Given the description of an element on the screen output the (x, y) to click on. 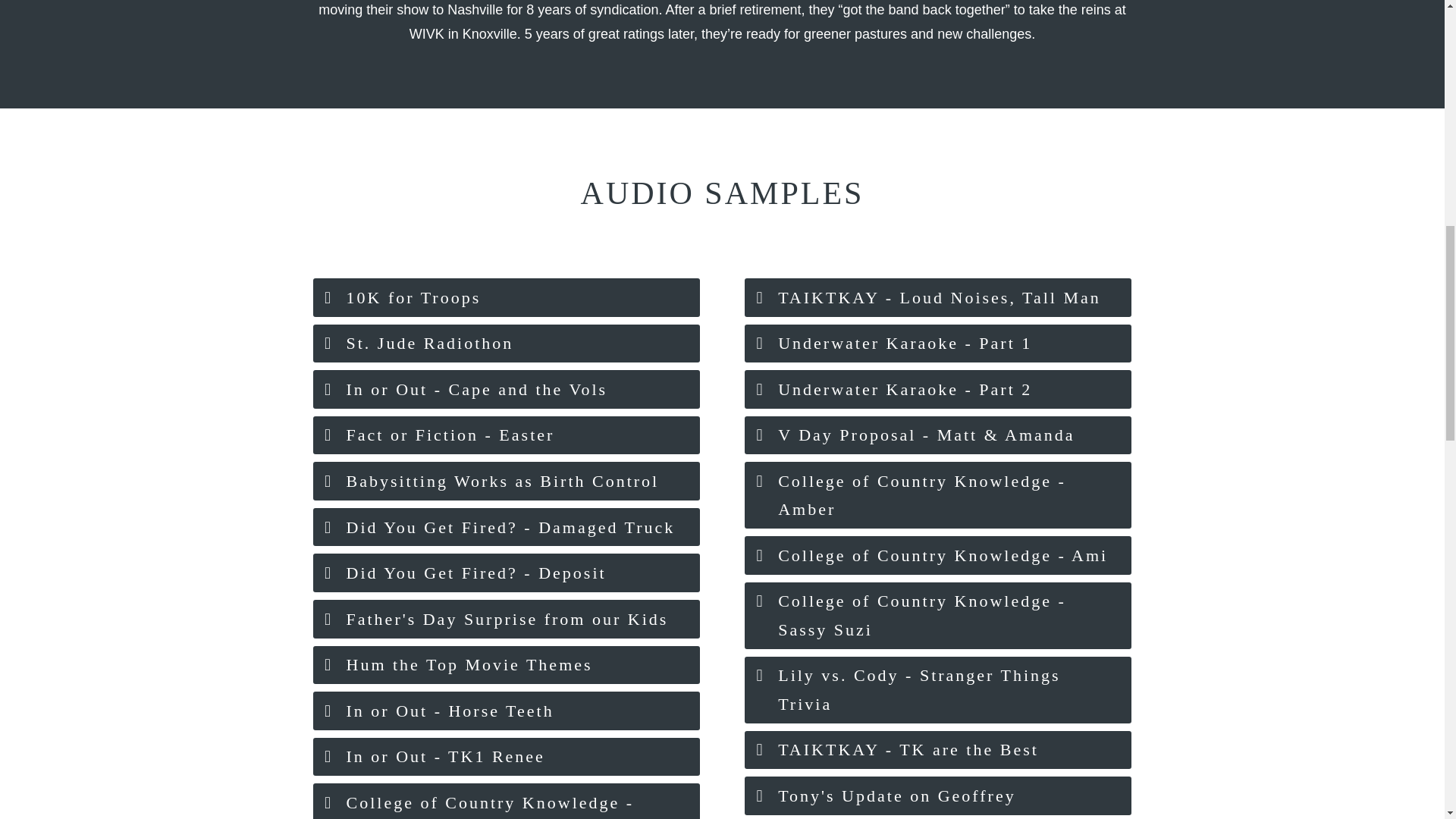
Did You Get Fired? - Damaged Truck (505, 527)
In or Out - Cape and the Vols (505, 389)
TAIKTKAY - Loud Noises, Tall Man (937, 297)
College of Country Knowledge - Sassy Suzi (937, 615)
Babysitting Works as Birth Control (505, 480)
Underwater Karaoke - Part 2 (937, 389)
Tony's Update on Geoffrey (937, 795)
Father's Day Surprise from our Kids (505, 618)
Hum the Top Movie Themes (505, 665)
College of Country Knowledge - Ami (937, 555)
